Given the description of an element on the screen output the (x, y) to click on. 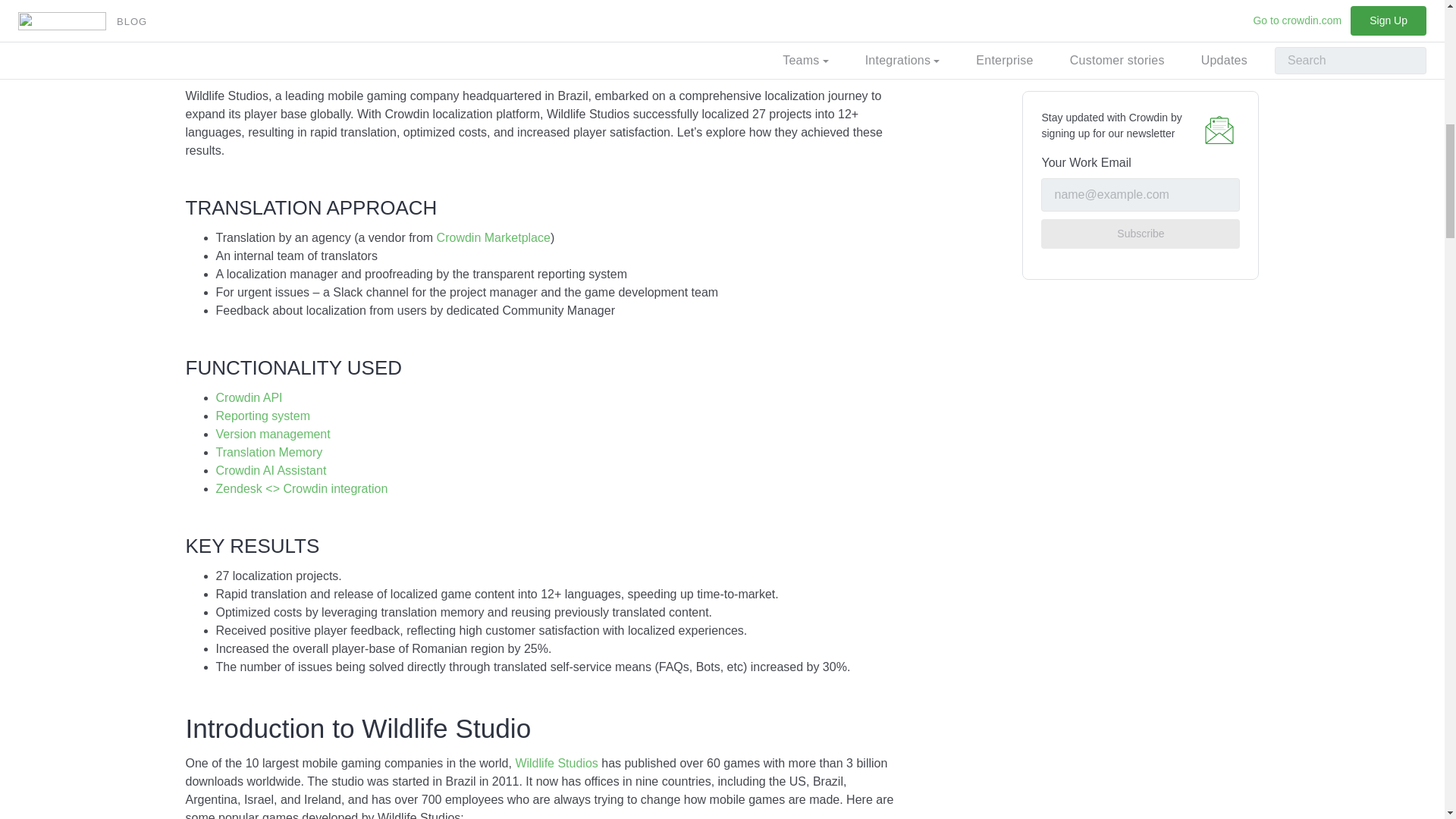
Crowdin Marketplace (493, 237)
Reporting system (262, 415)
Crowdin AI Assistant (270, 470)
Version management (272, 433)
Wildlife Studios (555, 762)
Translation Memory (268, 451)
Crowdin API (248, 397)
